Given the description of an element on the screen output the (x, y) to click on. 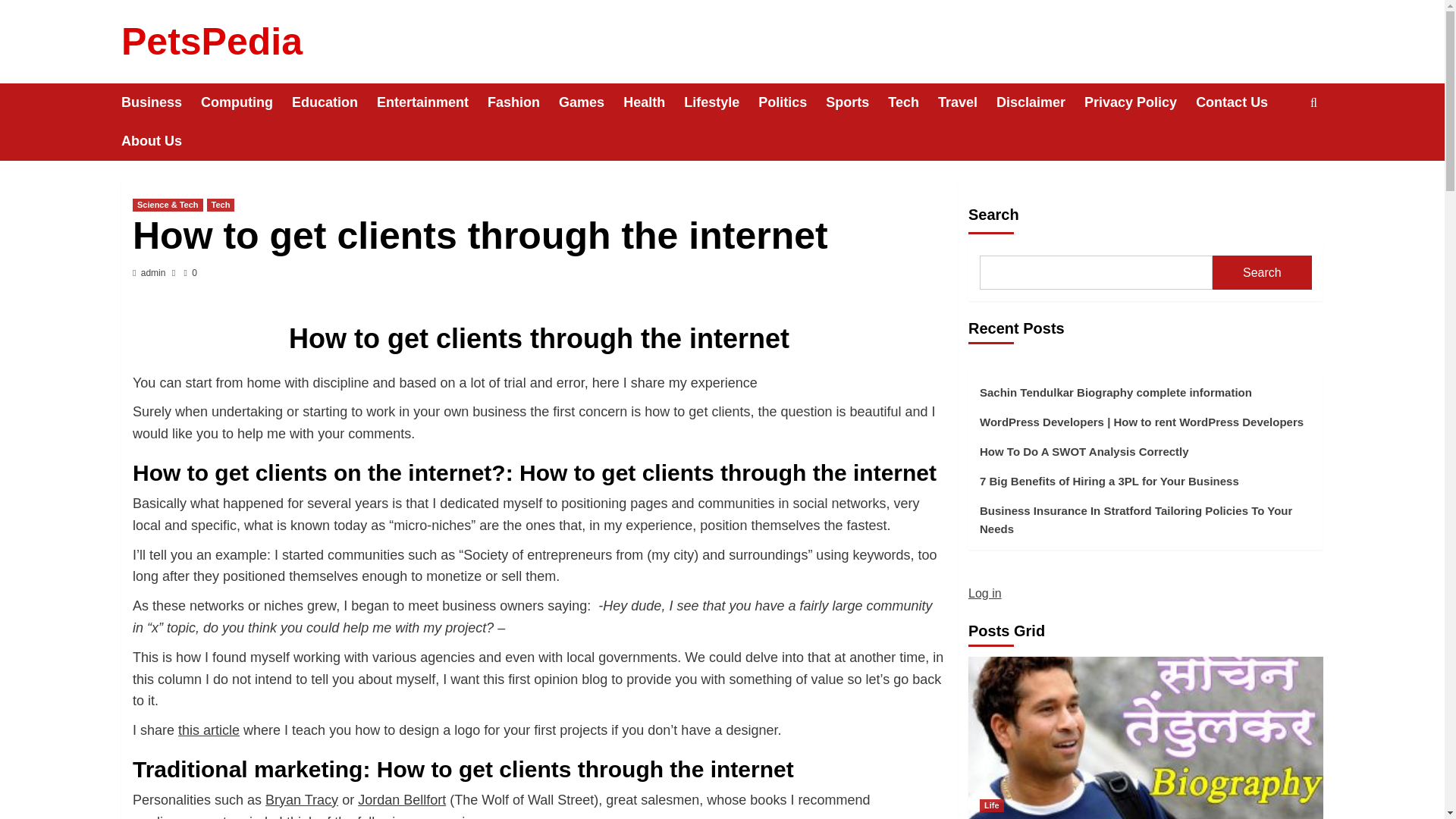
Tech (220, 205)
Disclaimer (1039, 102)
About Us (160, 141)
Fashion (523, 102)
Tech (912, 102)
Entertainment (432, 102)
Business (160, 102)
Education (334, 102)
Search (1313, 102)
Search (1278, 148)
Health (653, 102)
Lifestyle (721, 102)
Contact Us (1241, 102)
Computing (246, 102)
admin (153, 272)
